Given the description of an element on the screen output the (x, y) to click on. 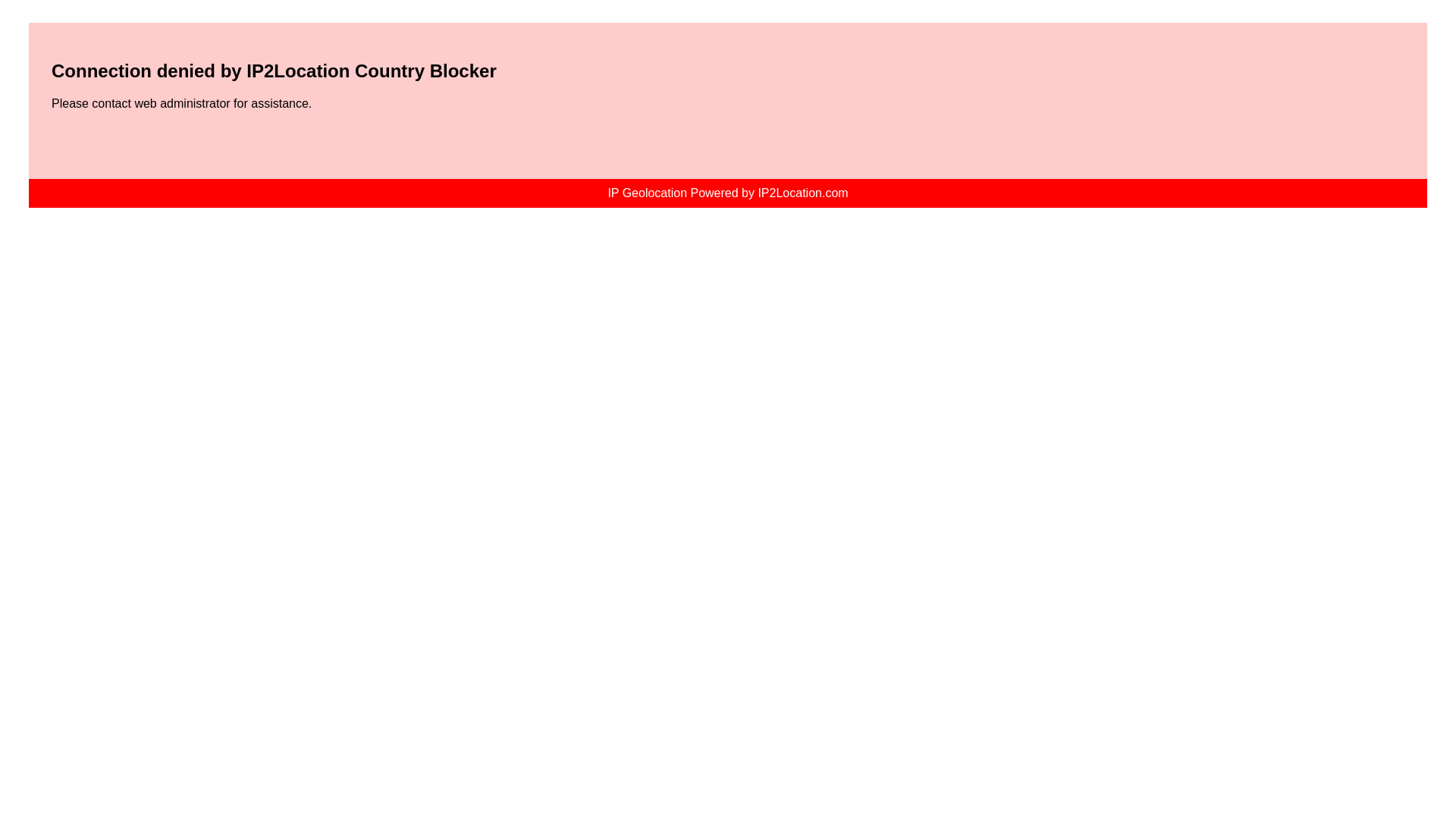
IP Geolocation Powered by IP2Location.com (727, 192)
